Given the description of an element on the screen output the (x, y) to click on. 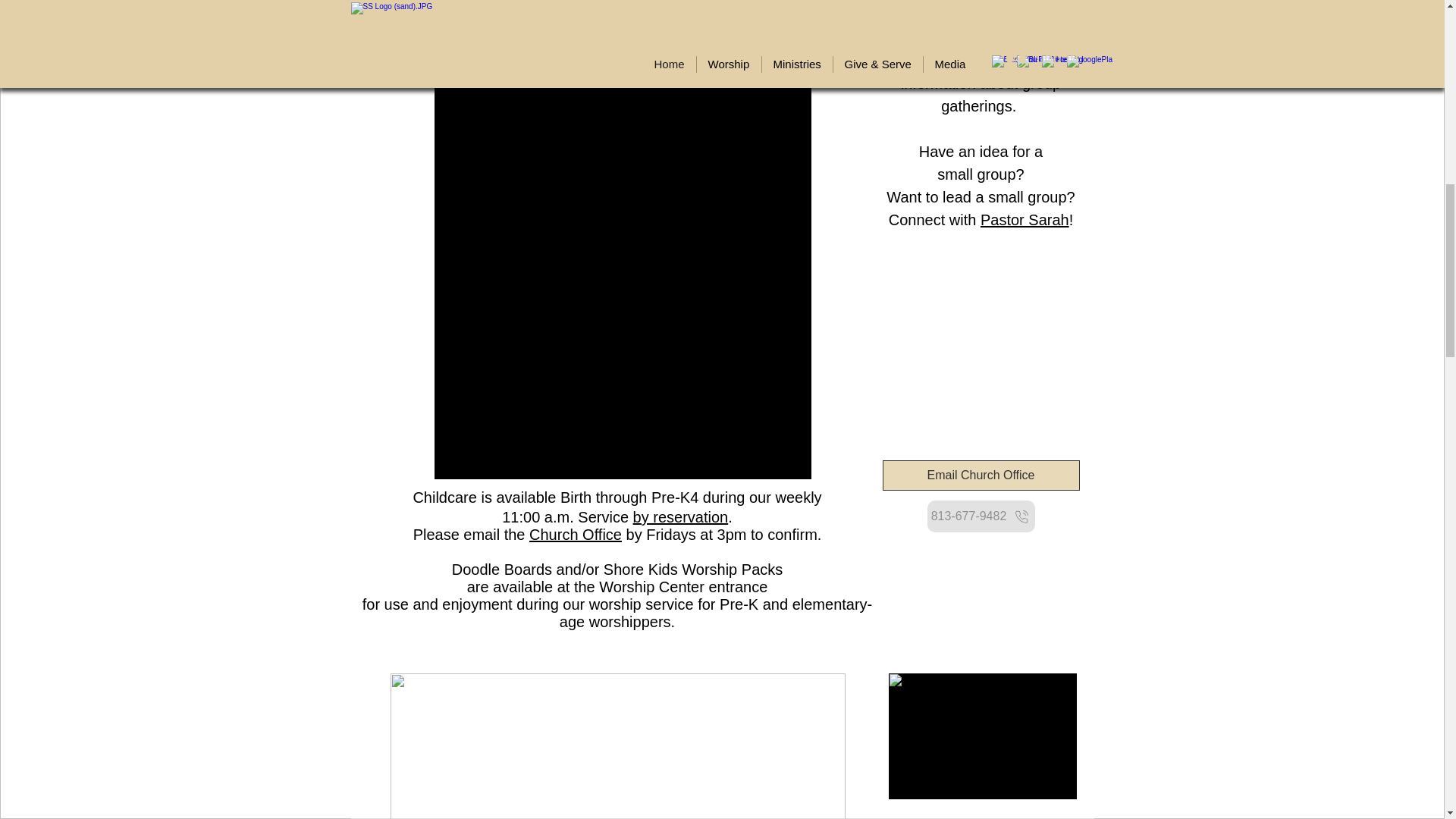
Church Office (575, 534)
Pastor Sarah (592, 744)
Small Groups Page (980, 37)
here (711, 786)
Pastor Sarah (1023, 219)
